Given the description of an element on the screen output the (x, y) to click on. 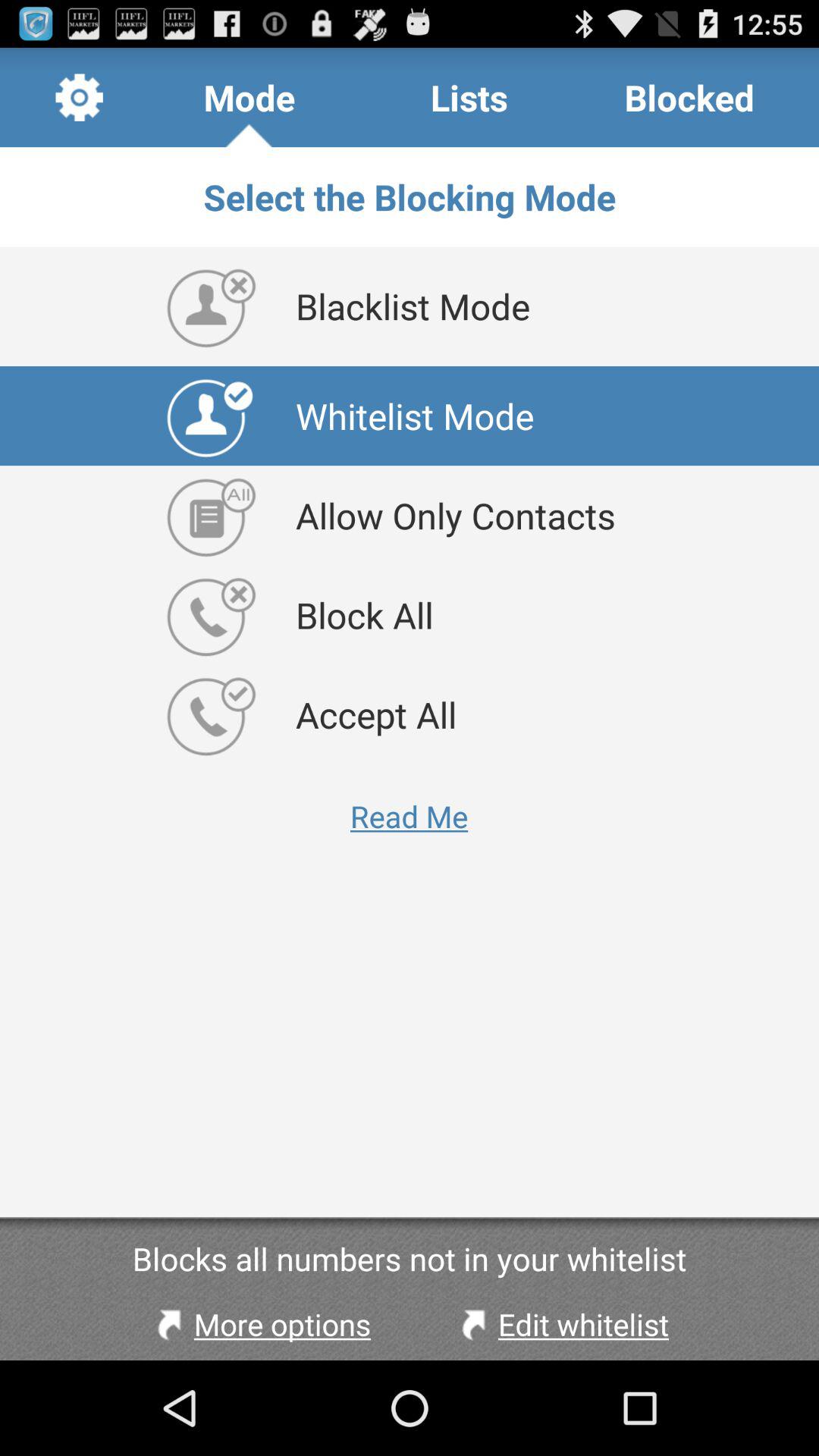
tap the button to the left of edit whitelist item (260, 1324)
